Given the description of an element on the screen output the (x, y) to click on. 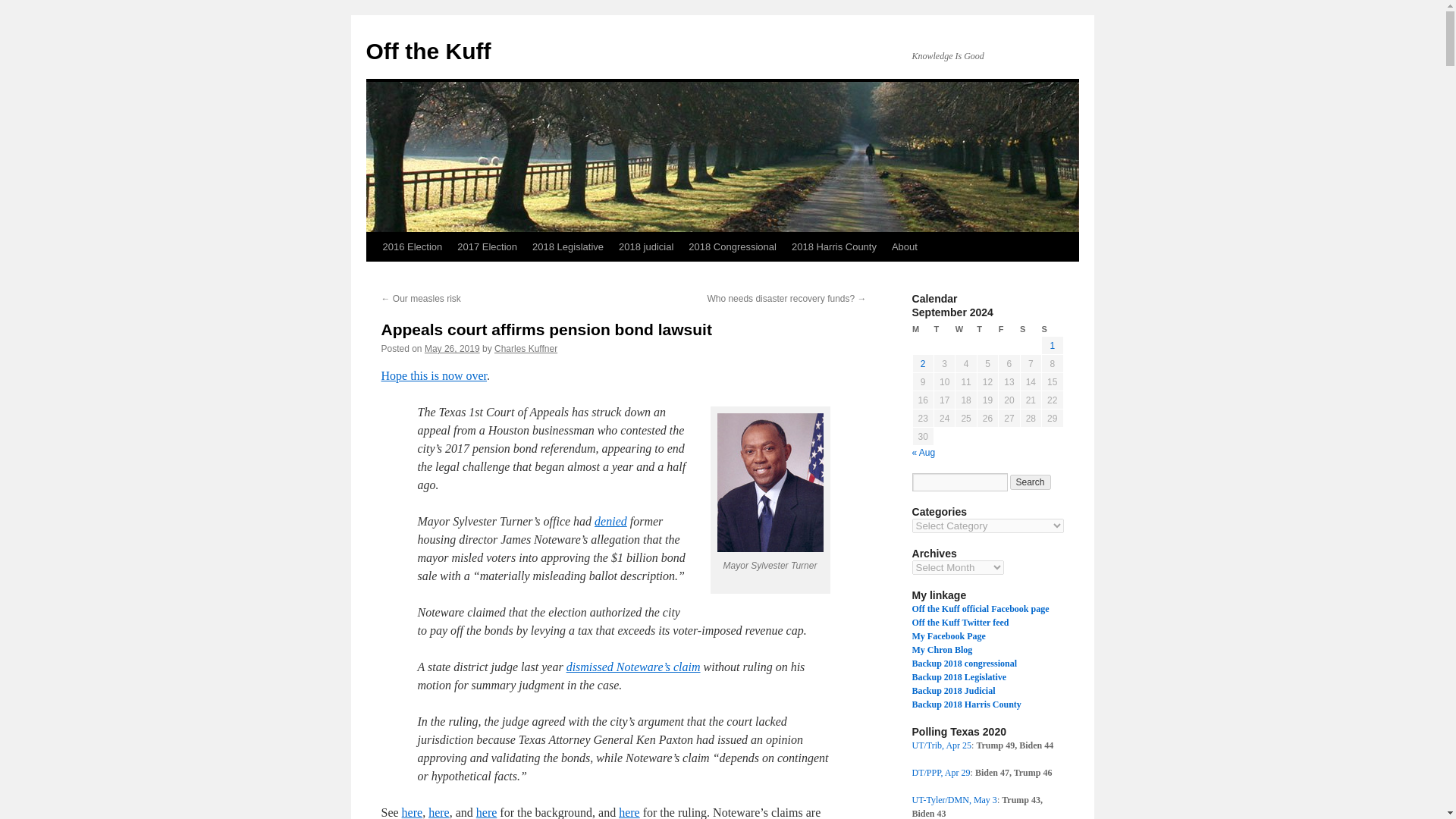
Off the Kuff (427, 50)
2016 Election (411, 246)
Search (1030, 482)
Wednesday (965, 329)
here (412, 812)
2018 Legislative (567, 246)
Tuesday (944, 329)
Saturday (1030, 329)
here (629, 812)
May 26, 2019 (452, 348)
